Given the description of an element on the screen output the (x, y) to click on. 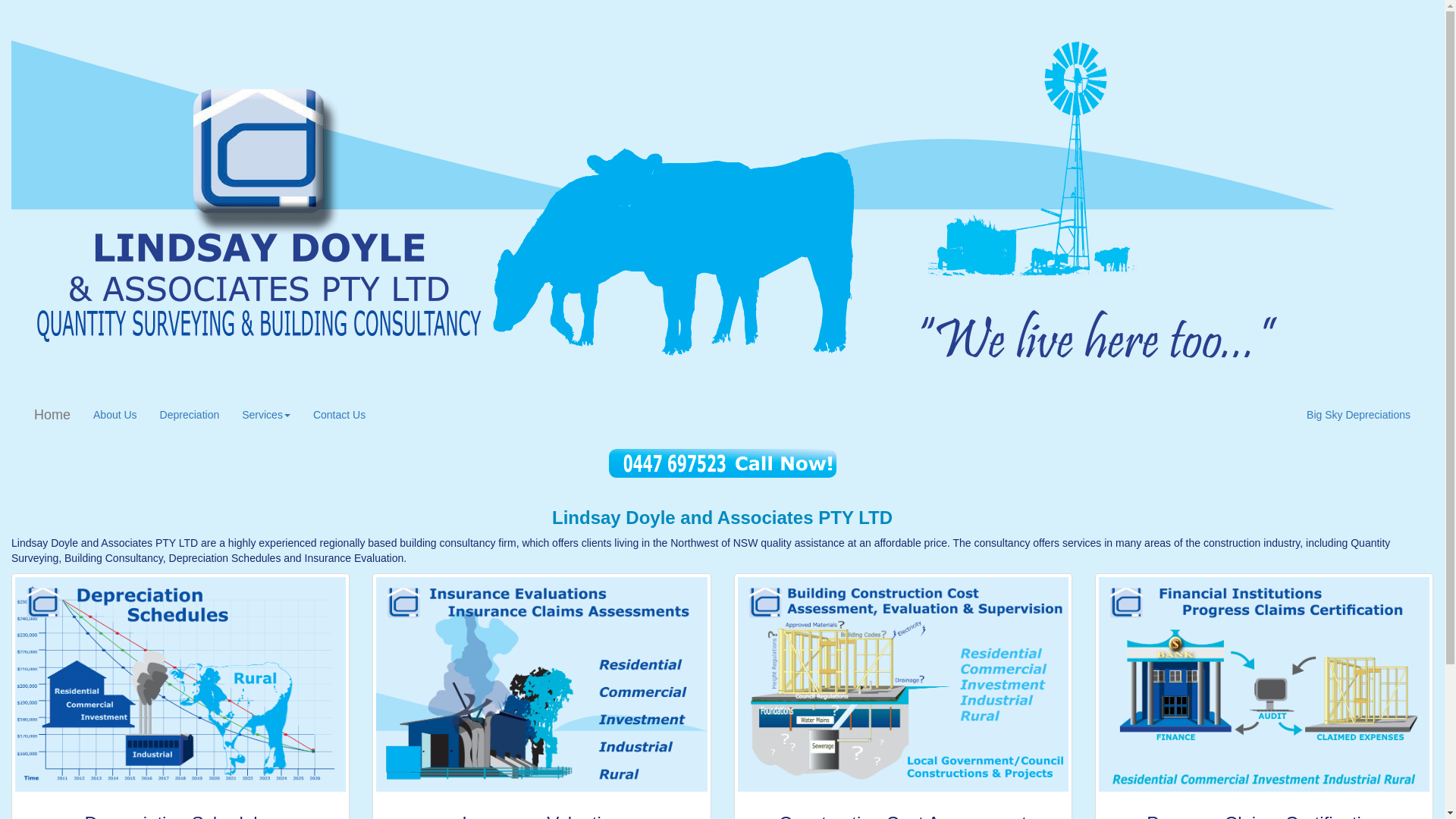
Contact Us Element type: text (338, 414)
Home Element type: text (51, 414)
Depreciation
(current) Element type: text (189, 414)
Big Sky Depreciations Element type: text (1358, 414)
Services Element type: text (265, 414)
About Us
(current) Element type: text (114, 414)
